Given the description of an element on the screen output the (x, y) to click on. 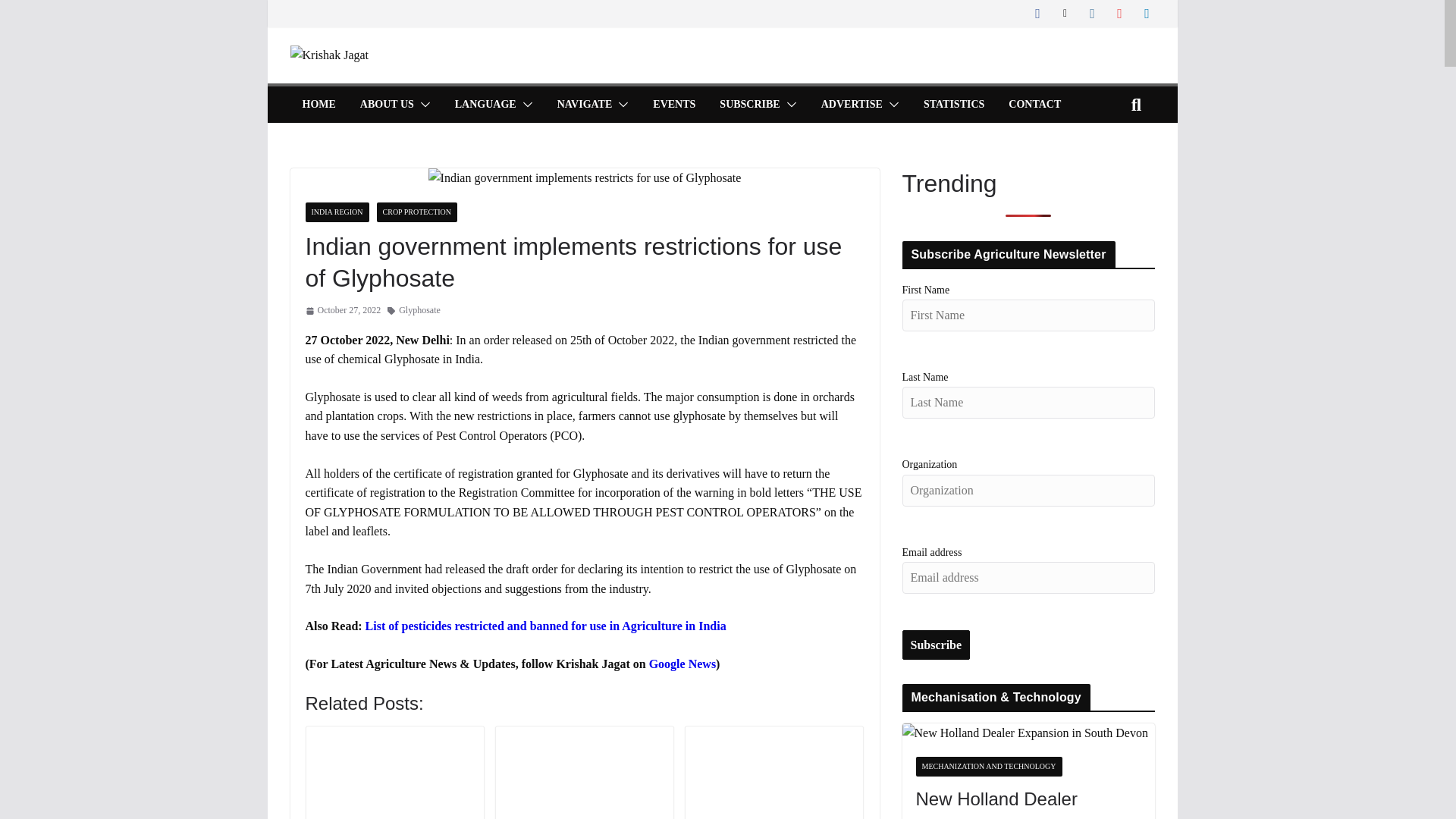
SUBSCRIBE (748, 104)
Glyphosate to be allowed only through PCOs (394, 773)
HOME (317, 104)
ABOUT US (386, 104)
EVENTS (673, 104)
Subscribe (936, 644)
ADVERTISE (851, 104)
LANGUAGE (485, 104)
